Given the description of an element on the screen output the (x, y) to click on. 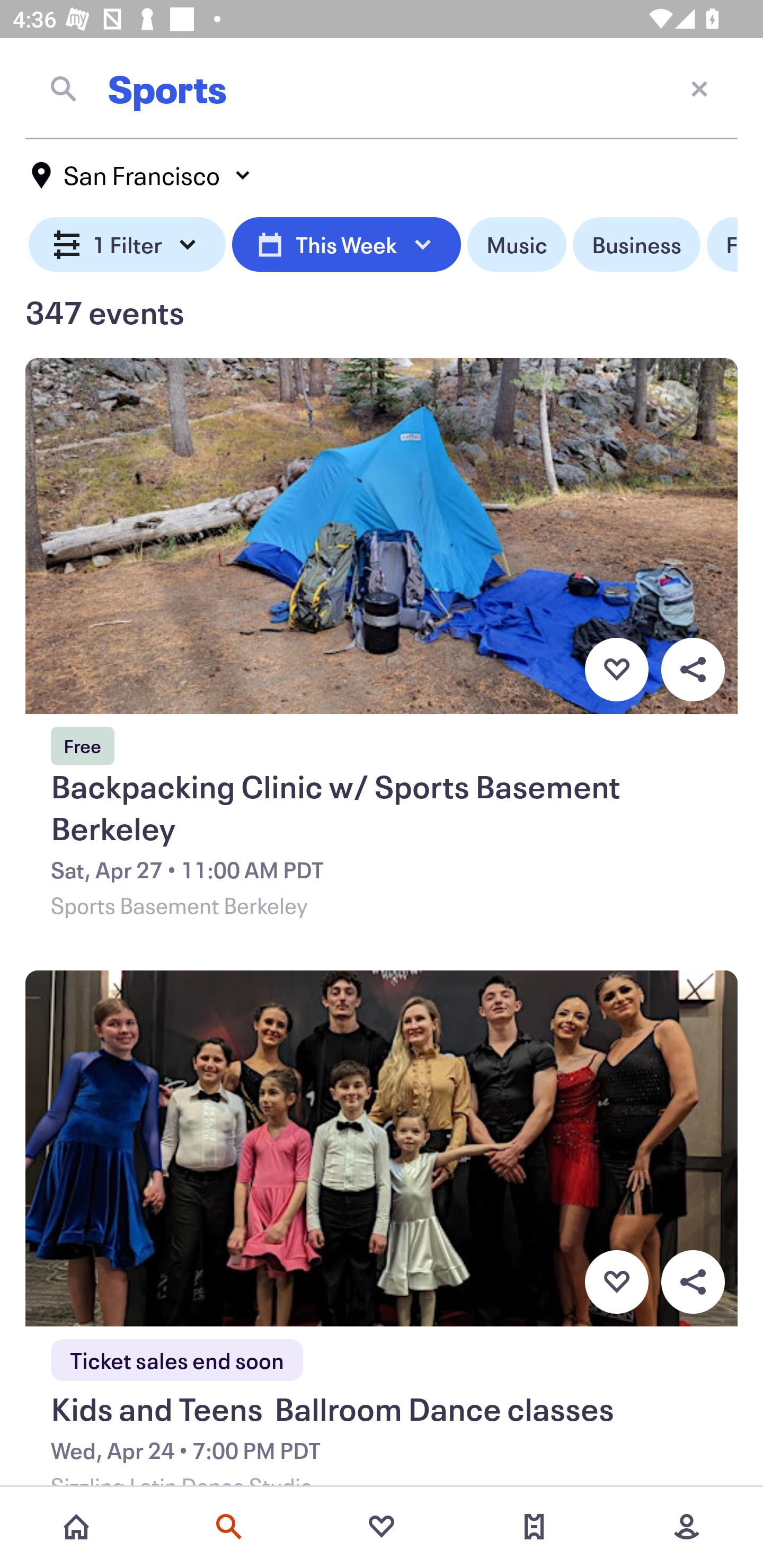
Sports Close current screen (381, 88)
Close current screen (699, 88)
San Francisco (141, 175)
1 Filter (126, 244)
This Week (345, 244)
Music (516, 244)
Business (636, 244)
Favorite button (616, 669)
Overflow menu button (692, 669)
Favorite button (616, 1281)
Overflow menu button (692, 1281)
Home (76, 1526)
Search events (228, 1526)
Favorites (381, 1526)
Tickets (533, 1526)
More (686, 1526)
